Given the description of an element on the screen output the (x, y) to click on. 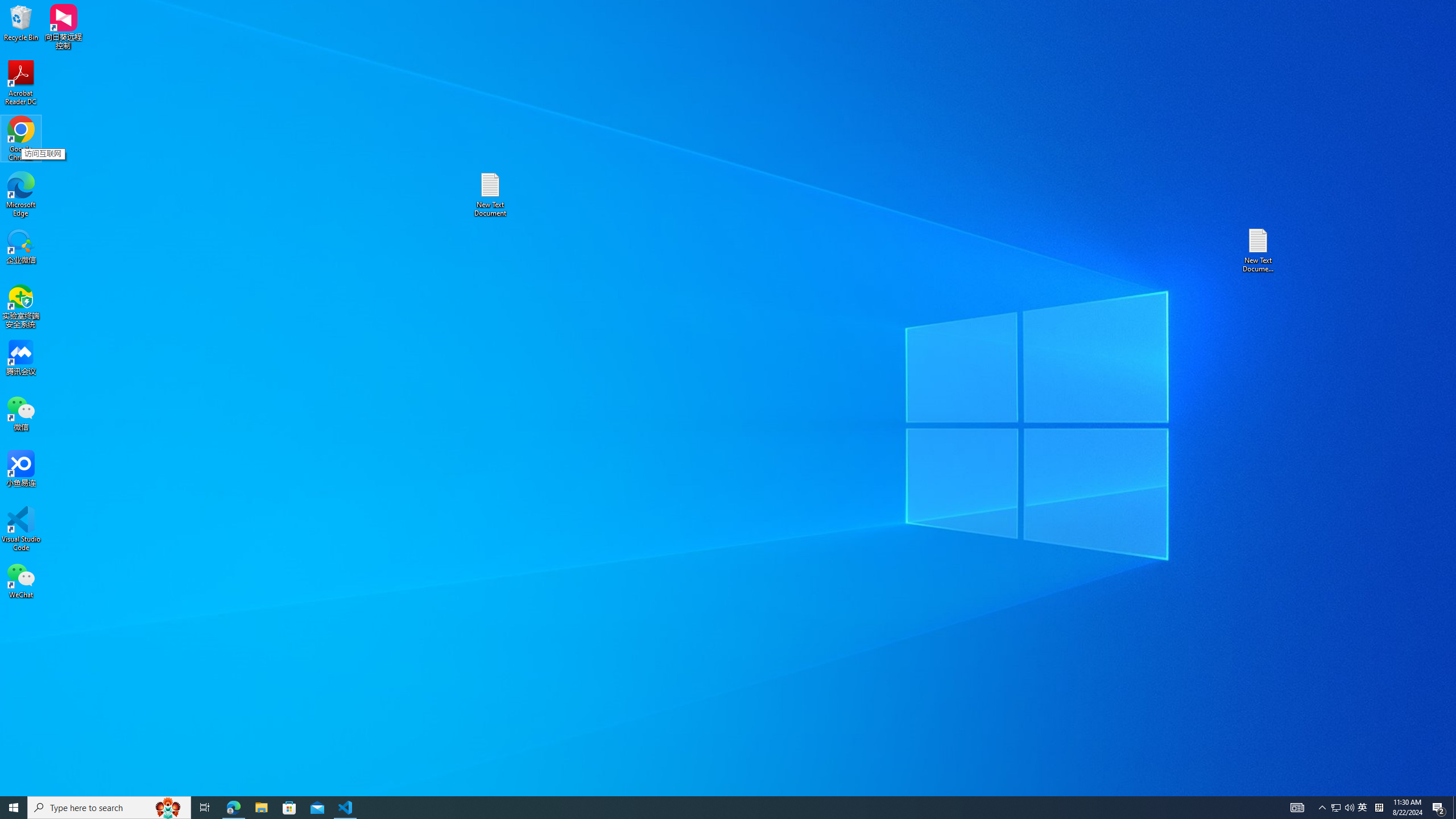
Q2790: 100% (1349, 807)
Action Center, 2 new notifications (1362, 807)
Search highlights icon opens search home window (1439, 807)
